Given the description of an element on the screen output the (x, y) to click on. 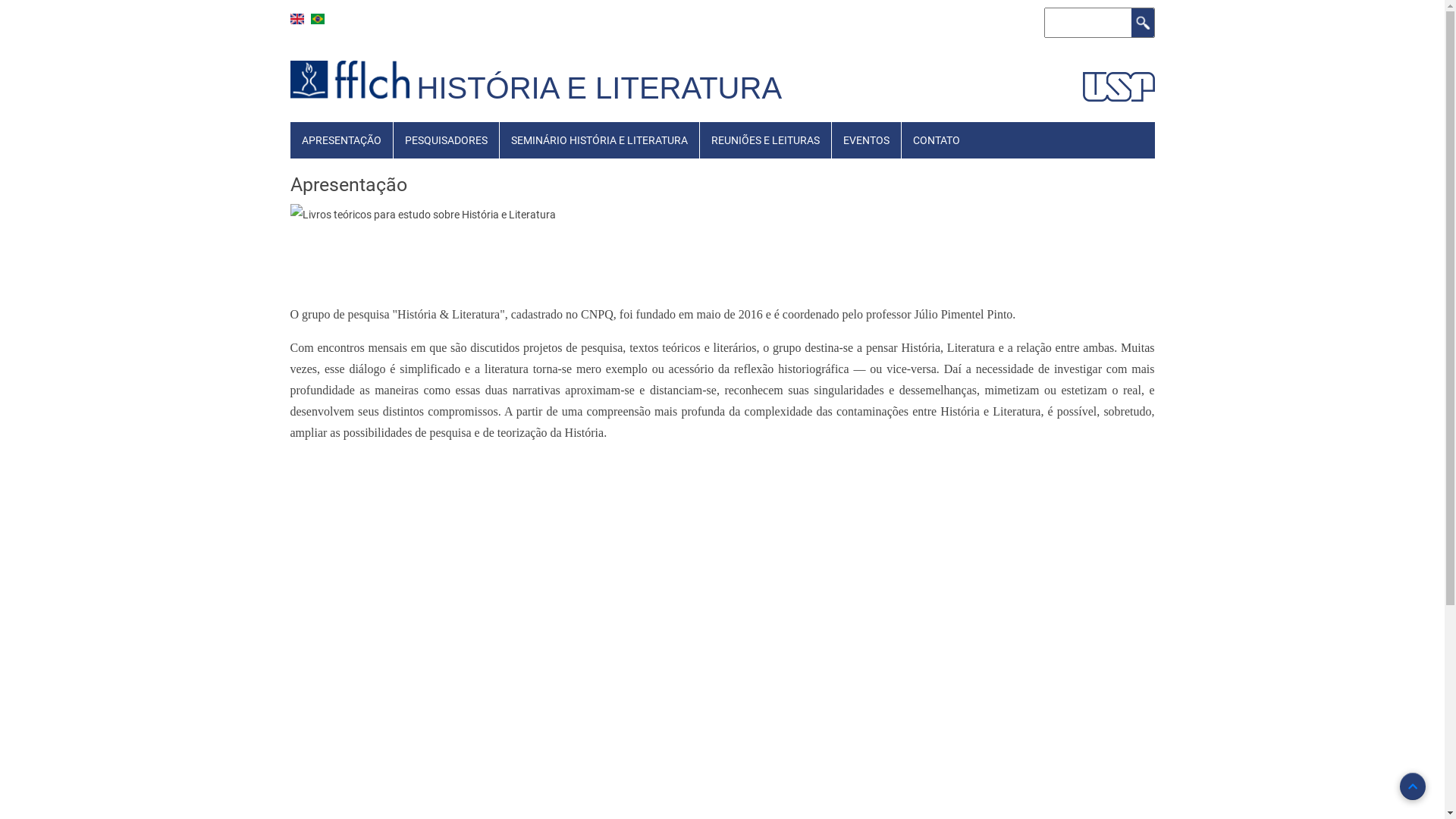
PESQUISADORES Element type: text (445, 140)
English Element type: hover (296, 18)
Back to Top Element type: hover (1412, 786)
Click e arraste para redimensionar Element type: hover (422, 213)
  Element type: text (420, 66)
Buscar Element type: text (1142, 22)
CONTATO Element type: text (935, 140)
EVENTOS Element type: text (865, 140)
Portuguese, Brazil Element type: hover (317, 18)
